Given the description of an element on the screen output the (x, y) to click on. 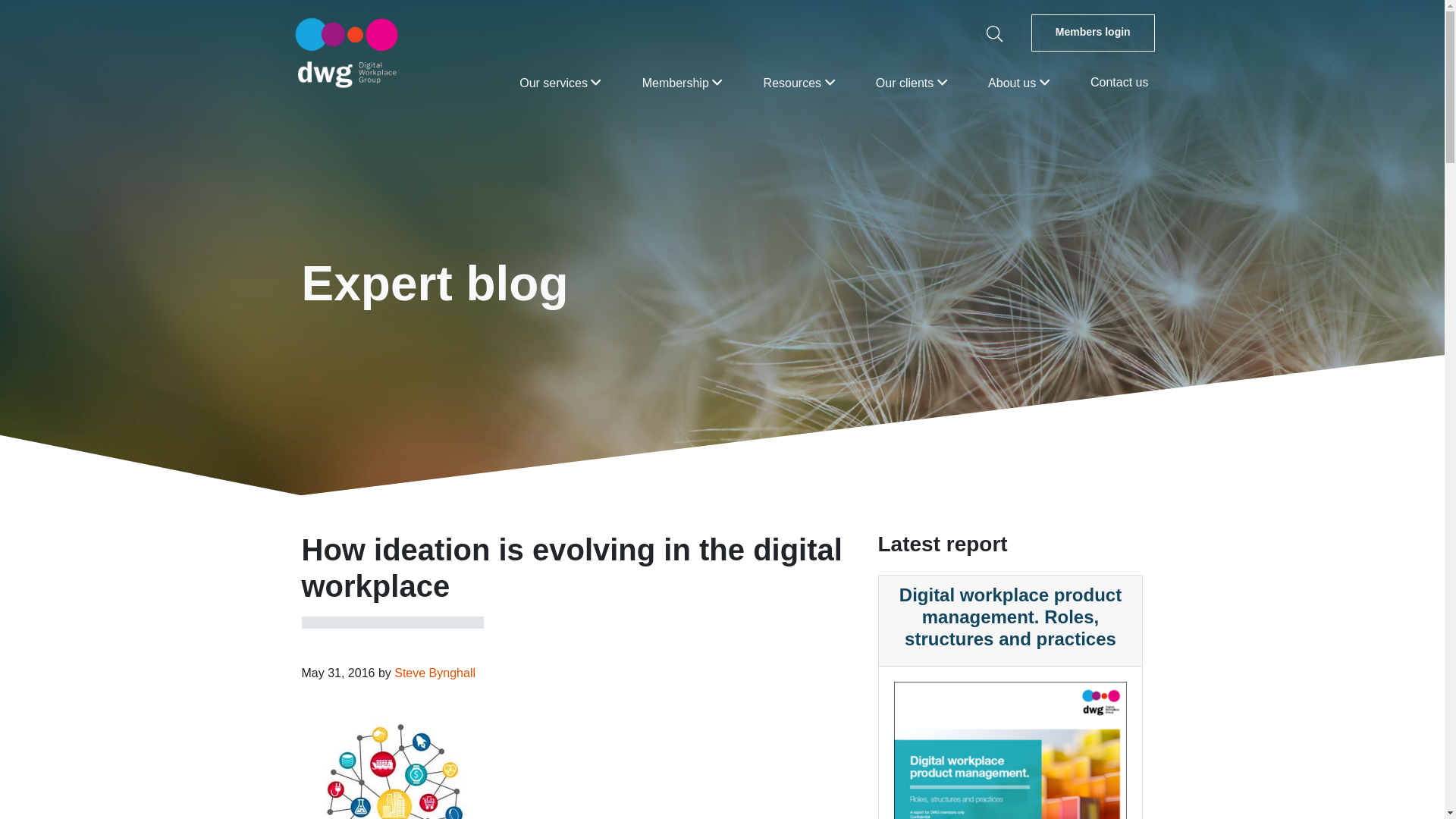
Members login (1092, 32)
Membership (682, 82)
Resources (799, 82)
Our services (560, 82)
Posts by Steve Bynghall (435, 672)
